Given the description of an element on the screen output the (x, y) to click on. 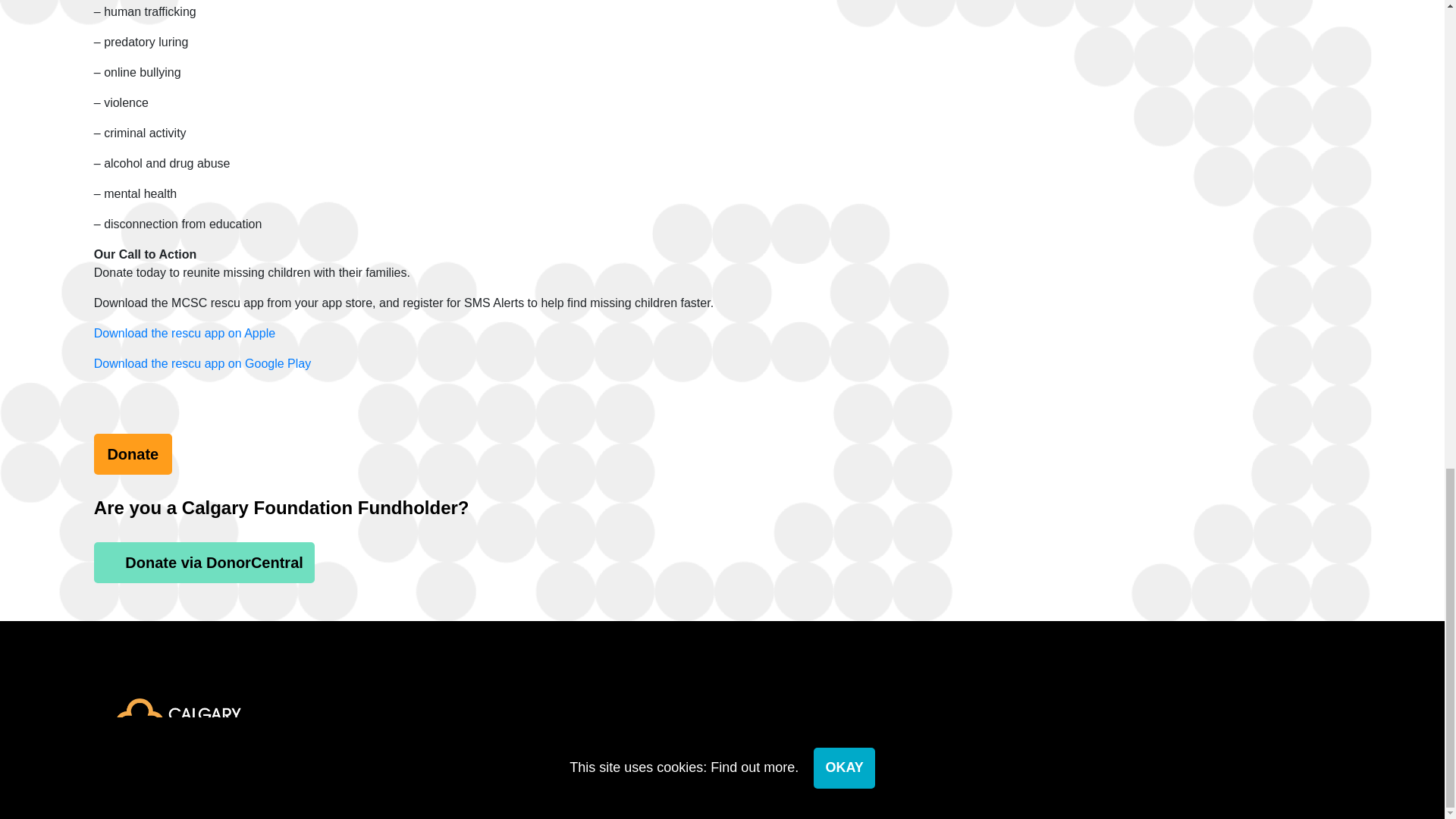
Download the rescu app on Apple (184, 332)
Donate via DonorCentral (204, 562)
Privacy Policy (408, 785)
FAQs (536, 730)
Donate (132, 454)
About (466, 730)
Download the rescu app on Google Play (202, 363)
